Given the description of an element on the screen output the (x, y) to click on. 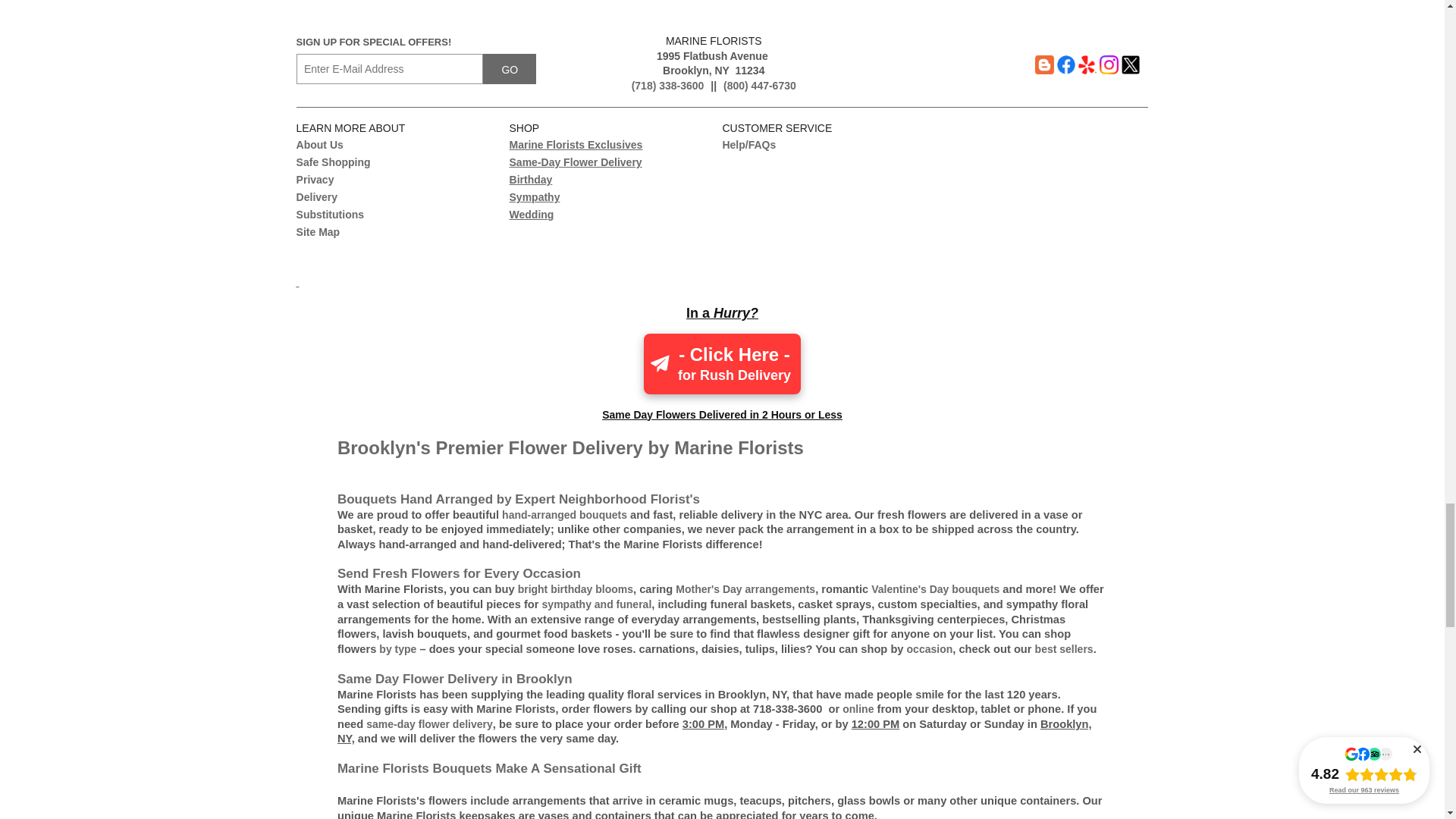
Get florist arranged bouquets (564, 514)
Shop birthday flower arrangements (575, 589)
Go (509, 69)
Email Sign up (390, 69)
go (509, 69)
